Given the description of an element on the screen output the (x, y) to click on. 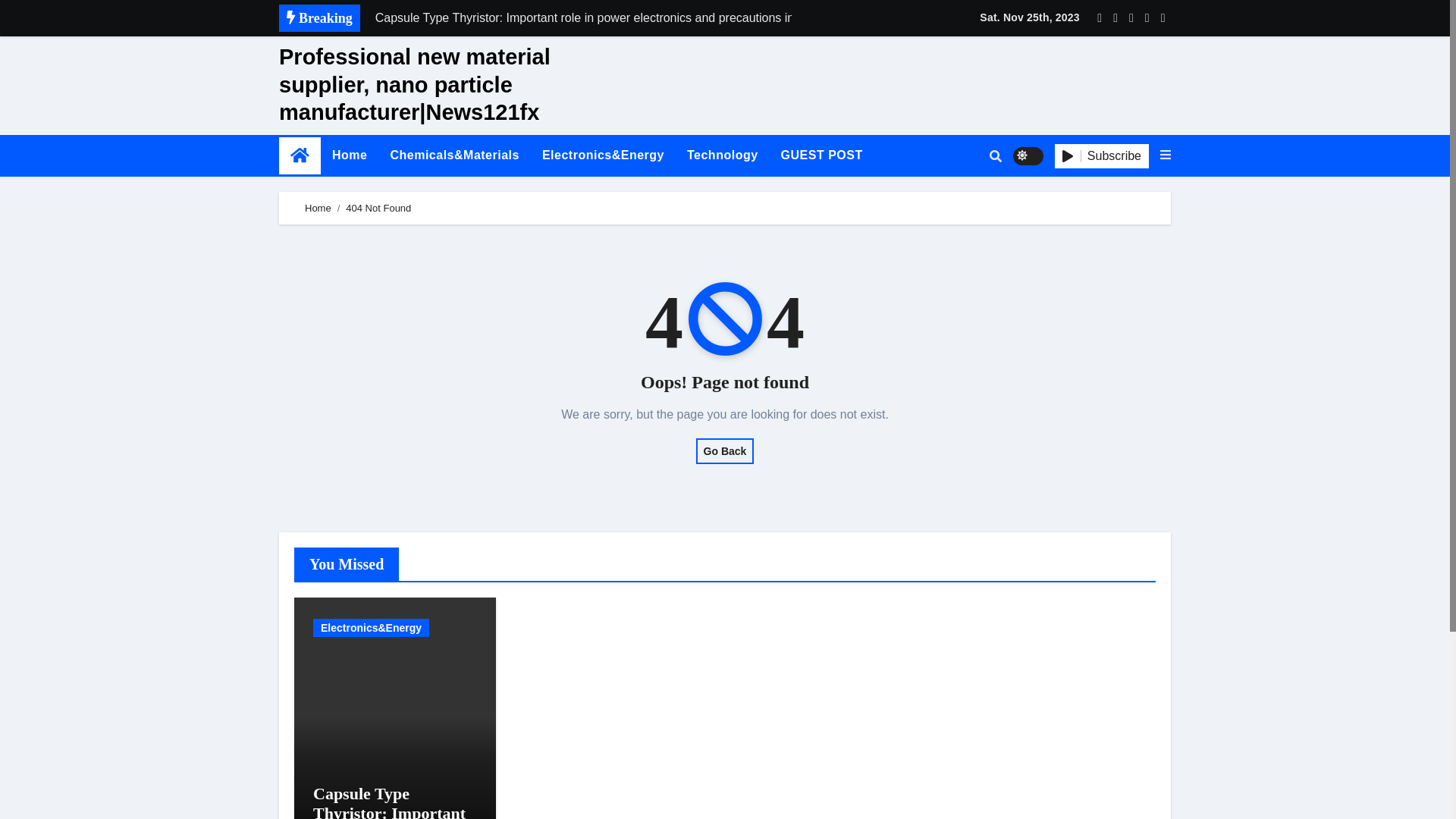
GUEST POST Element type: text (821, 155)
Home Element type: hover (299, 155)
Electronics&Energy Element type: text (371, 627)
Home Element type: text (349, 155)
Subscribe Element type: text (1101, 156)
Chemicals&Materials Element type: text (454, 155)
Go Back Element type: text (725, 451)
Home Element type: text (317, 207)
Electronics&Energy Element type: text (602, 155)
Technology Element type: text (722, 155)
